Given the description of an element on the screen output the (x, y) to click on. 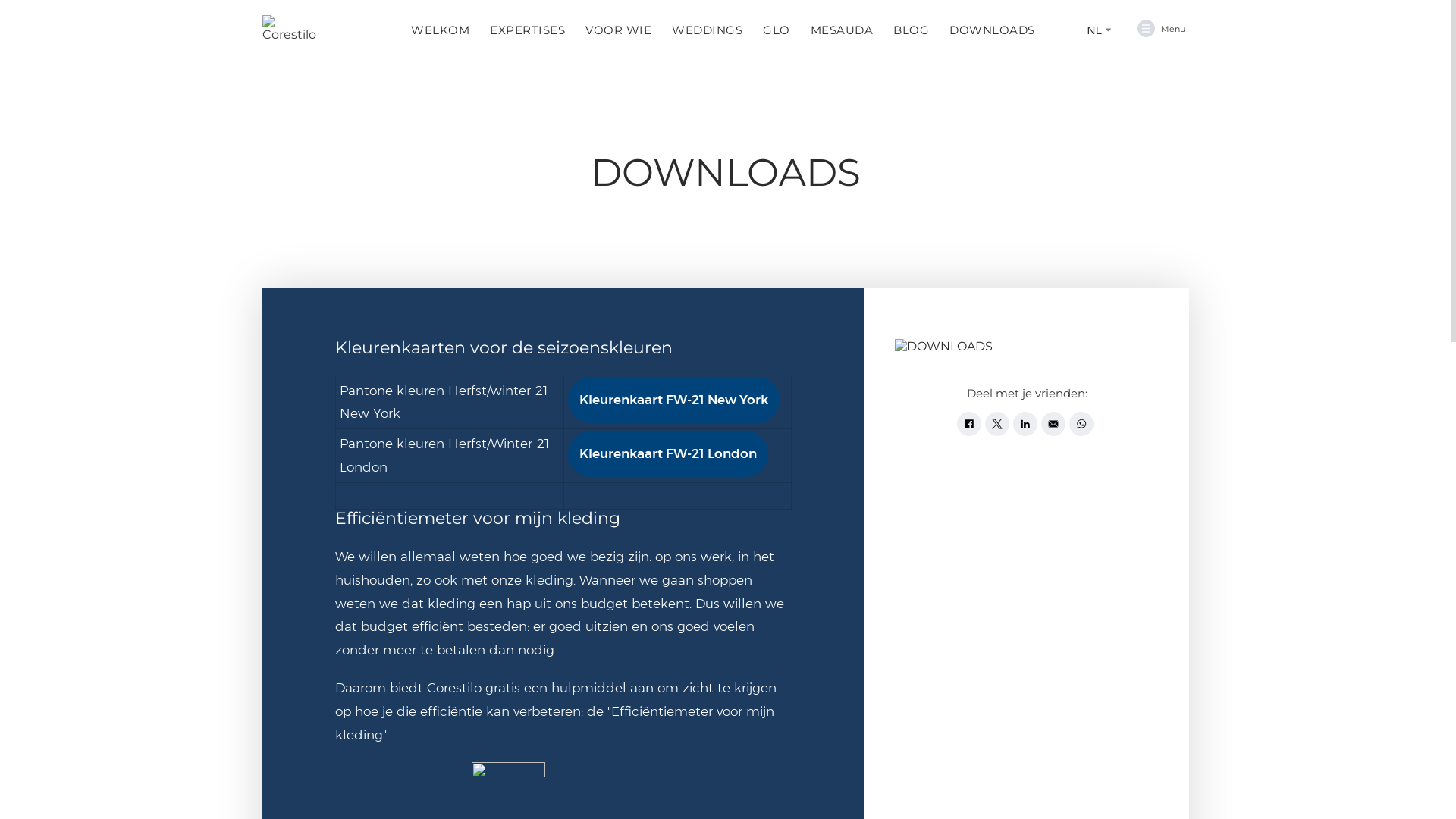
Share via facebook Element type: hover (969, 423)
Share via mail Element type: hover (1053, 423)
Share via twitter Element type: hover (997, 423)
Kleurenkaart FW-21 London Element type: text (667, 453)
Share via linkedin Element type: hover (1025, 423)
DOWNLOADS Element type: text (992, 29)
BLOG Element type: text (910, 29)
EXPERTISES Element type: text (526, 29)
Menu Element type: text (1161, 28)
Share via whatsapp Element type: hover (1081, 423)
VOOR WIE Element type: text (618, 29)
Corestilo Element type: hover (291, 28)
MESAUDA Element type: text (841, 29)
Kleurenkaart FW-21 New York Element type: text (672, 399)
GLO Element type: text (776, 29)
WEDDINGS Element type: text (706, 29)
WELKOM Element type: text (440, 29)
